Given the description of an element on the screen output the (x, y) to click on. 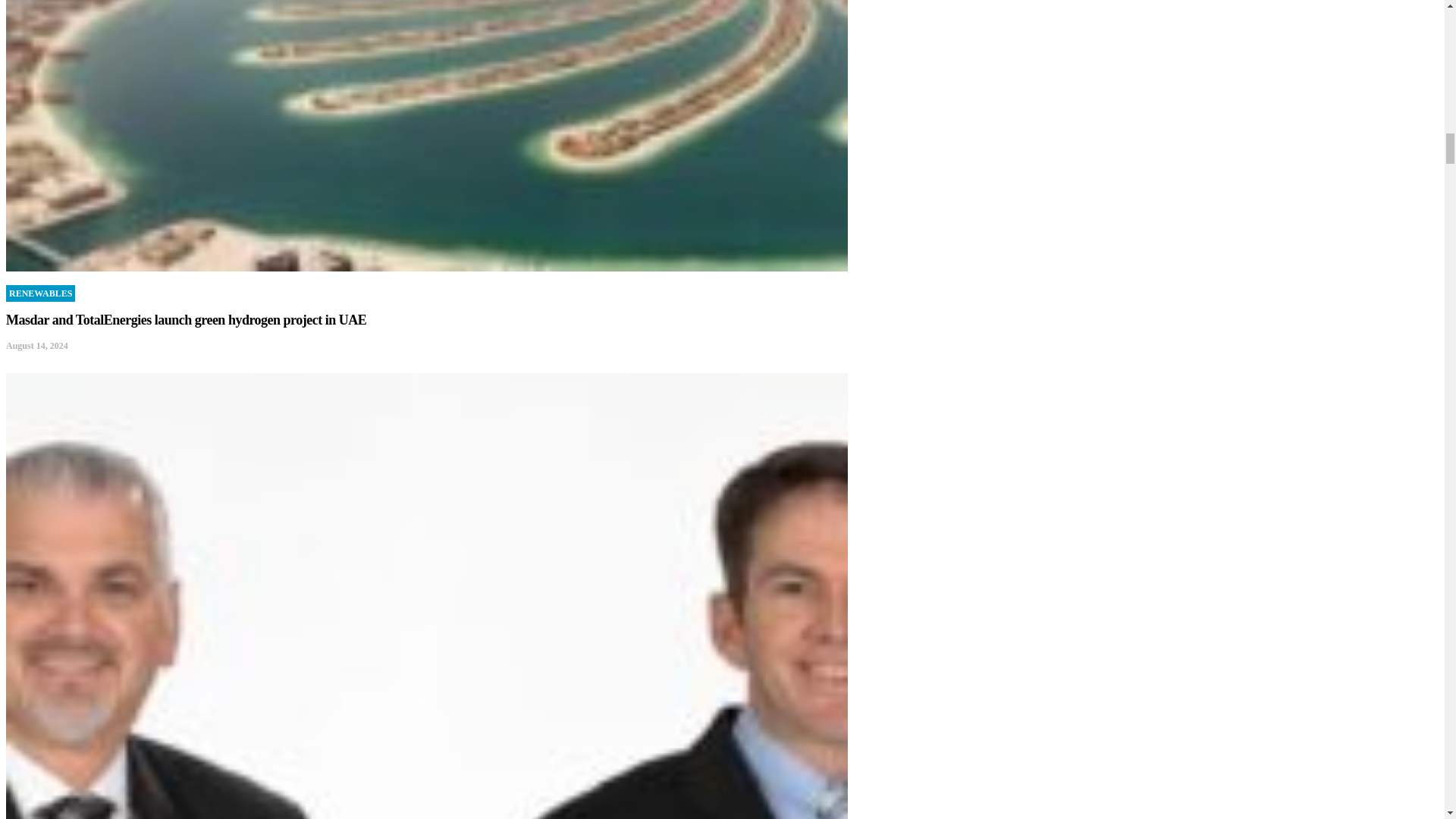
August 14, 2024 (36, 345)
RENEWABLES (40, 293)
